Given the description of an element on the screen output the (x, y) to click on. 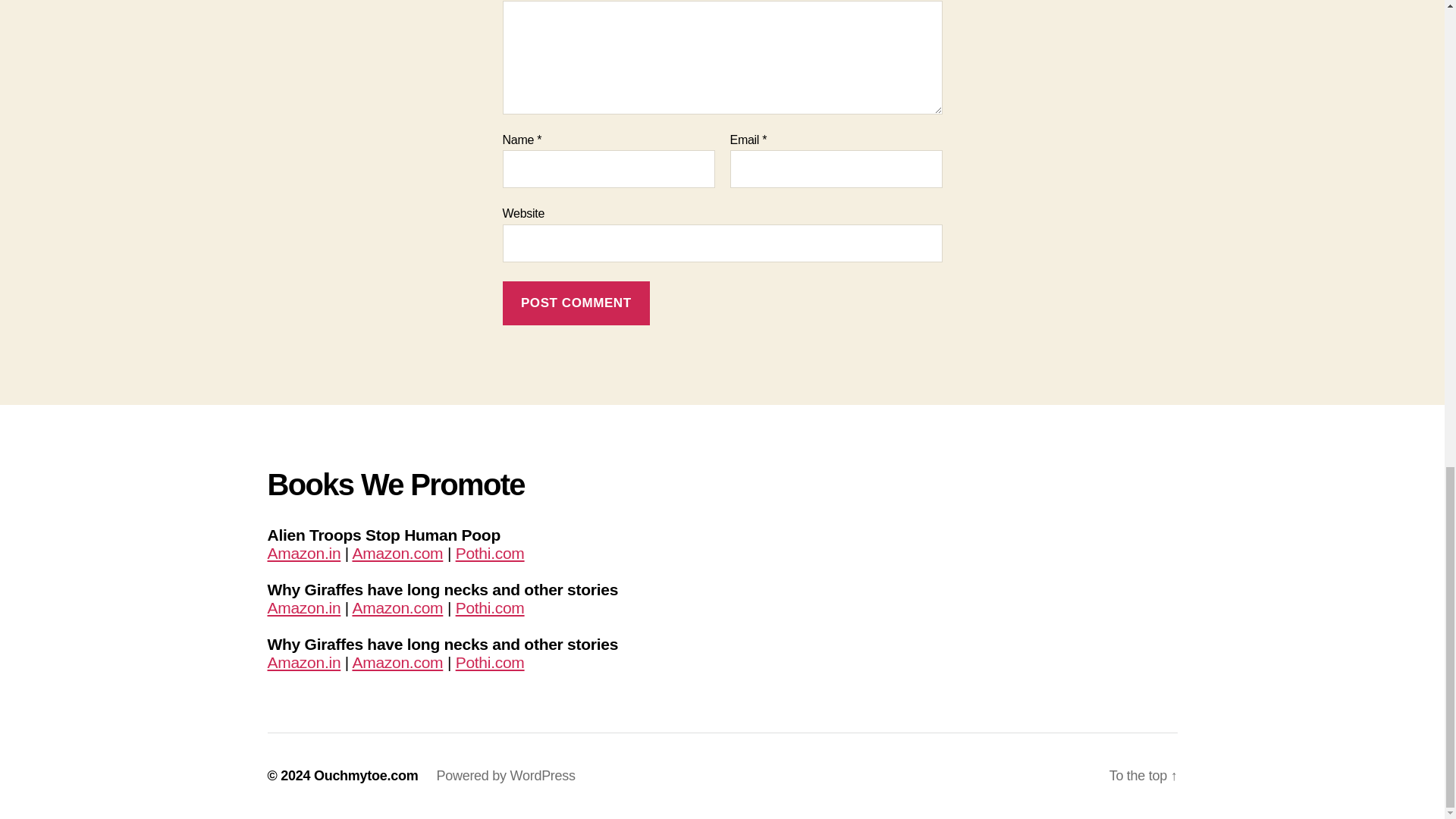
Post Comment (575, 303)
Amazon.in (303, 607)
Post Comment (575, 303)
Amazon.com (397, 552)
Pothi.com (489, 552)
Amazon.com (397, 607)
Amazon.in (303, 552)
